Given the description of an element on the screen output the (x, y) to click on. 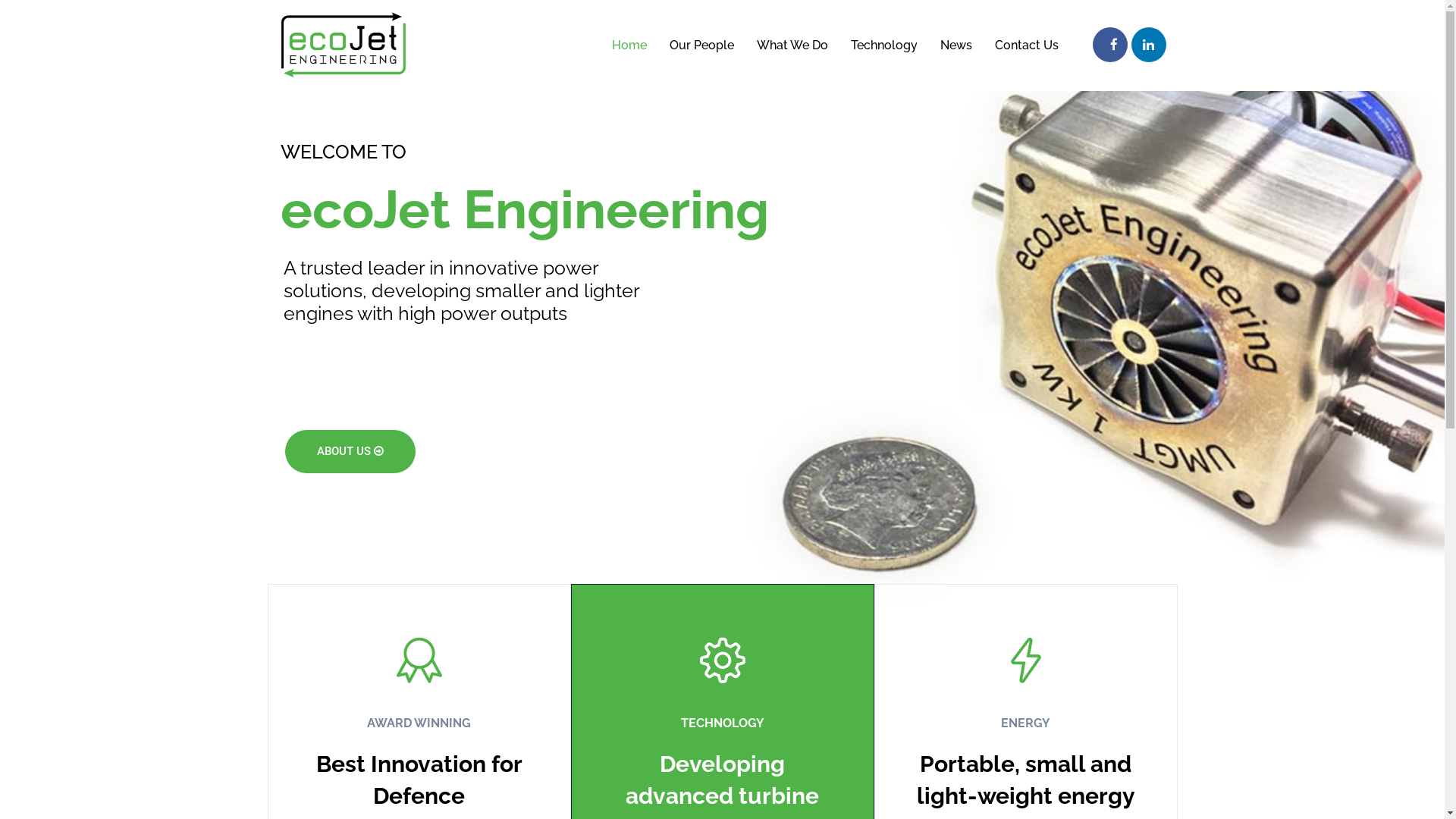
Home Element type: text (634, 45)
ecoJet Engineering Element type: hover (343, 44)
What We Do Element type: text (791, 45)
Our People Element type: text (701, 45)
Contact Us Element type: text (1025, 45)
ecoJet Engineering Element type: hover (343, 44)
Technology Element type: text (883, 45)
News Element type: text (955, 45)
